Given the description of an element on the screen output the (x, y) to click on. 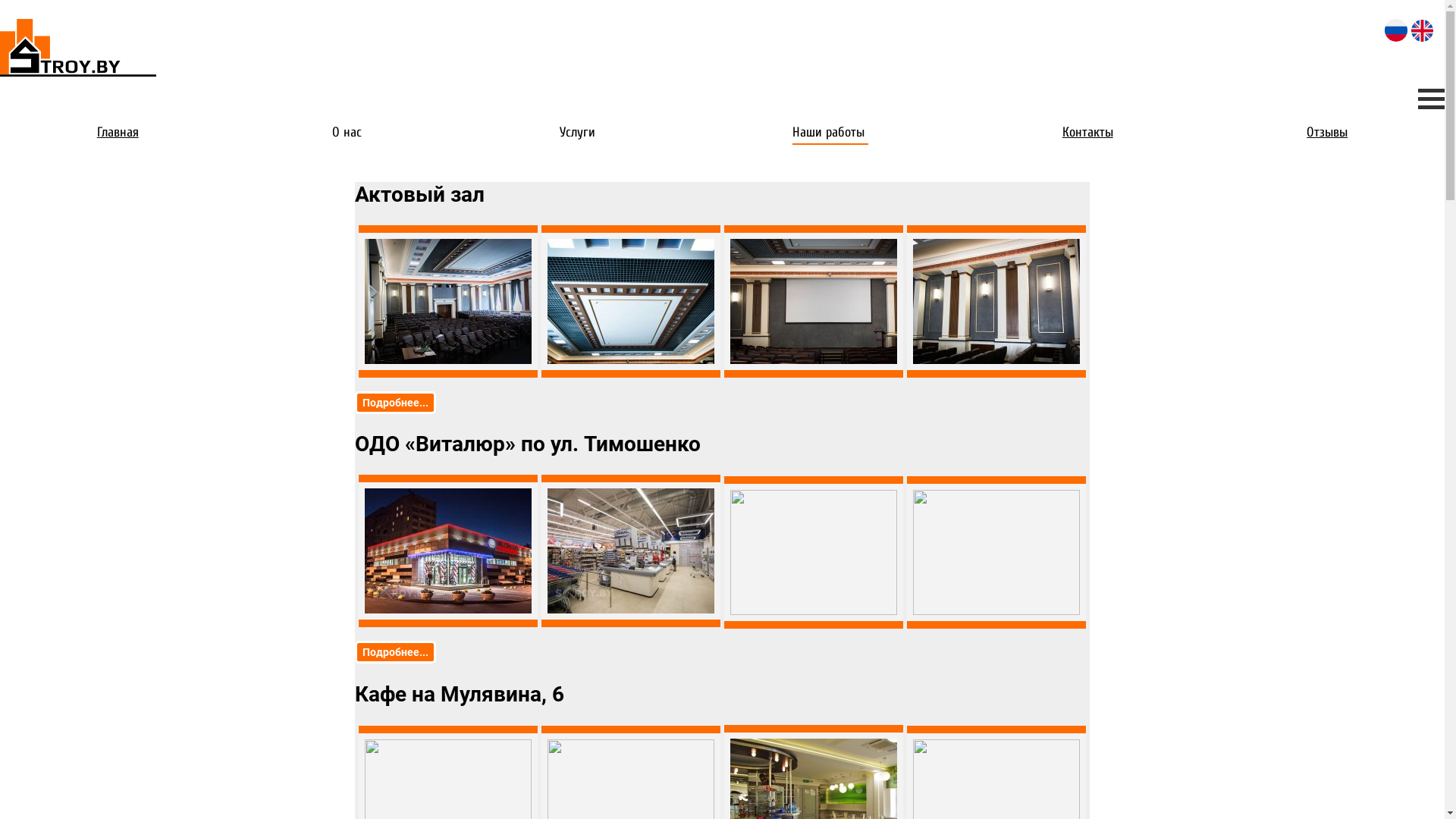
Russian (RU) Element type: hover (1395, 29)
English (UK) Element type: hover (1422, 30)
